Given the description of an element on the screen output the (x, y) to click on. 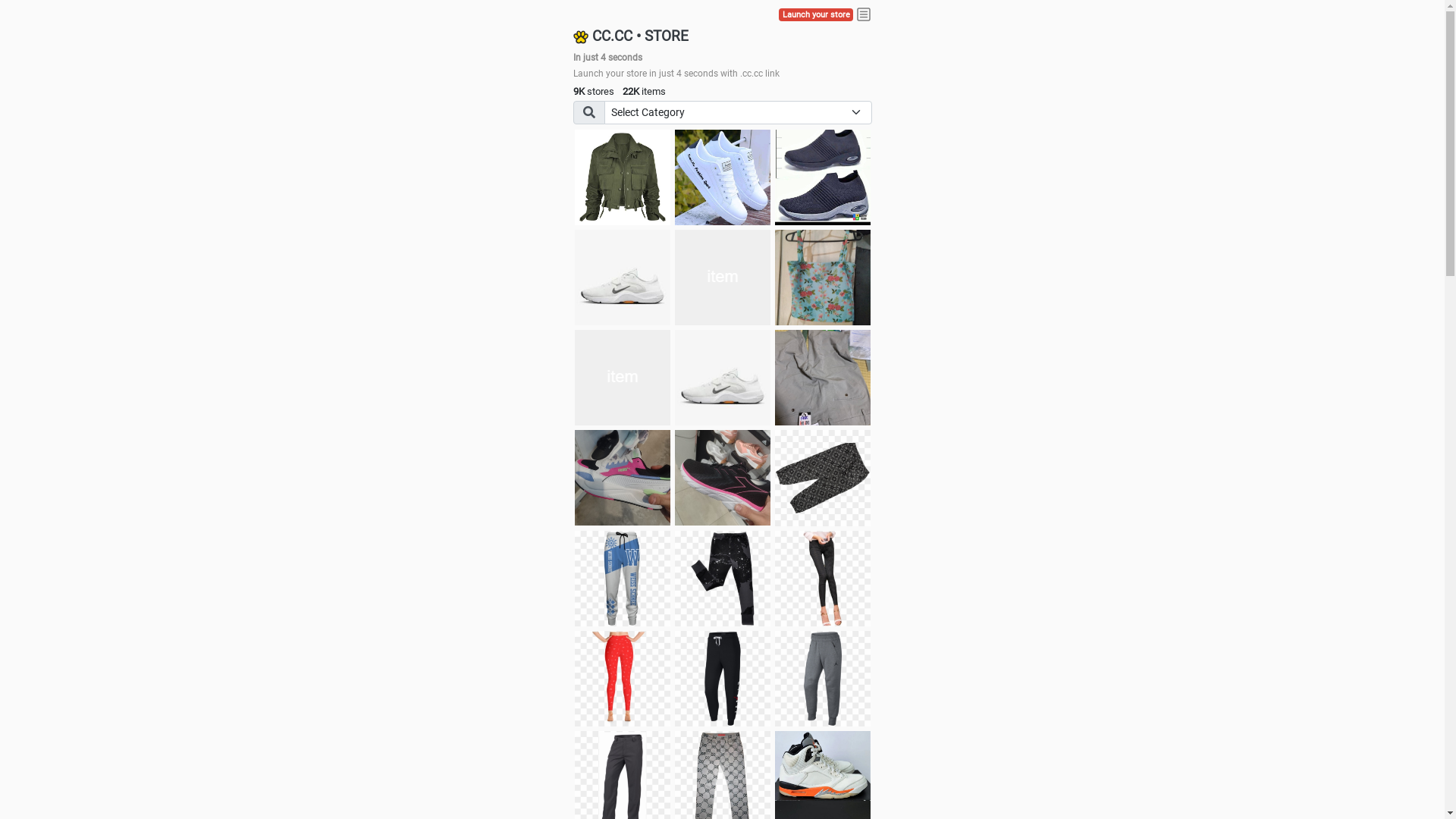
white shoes Element type: hover (722, 177)
Short pant Element type: hover (822, 477)
Shoes for boys Element type: hover (622, 277)
Pant Element type: hover (822, 578)
Pant Element type: hover (722, 678)
Pant Element type: hover (622, 678)
Zapatillas Element type: hover (722, 477)
Ukay cloth Element type: hover (822, 277)
Launch your store Element type: text (815, 14)
jacket Element type: hover (622, 177)
shoes for boys Element type: hover (822, 177)
Pant Element type: hover (622, 578)
Zapatillas pumas Element type: hover (622, 477)
Things we need Element type: hover (722, 277)
Pant Element type: hover (722, 578)
Shoes Element type: hover (722, 377)
Pant Element type: hover (822, 678)
Dress/square nect top Element type: hover (622, 377)
